Given the description of an element on the screen output the (x, y) to click on. 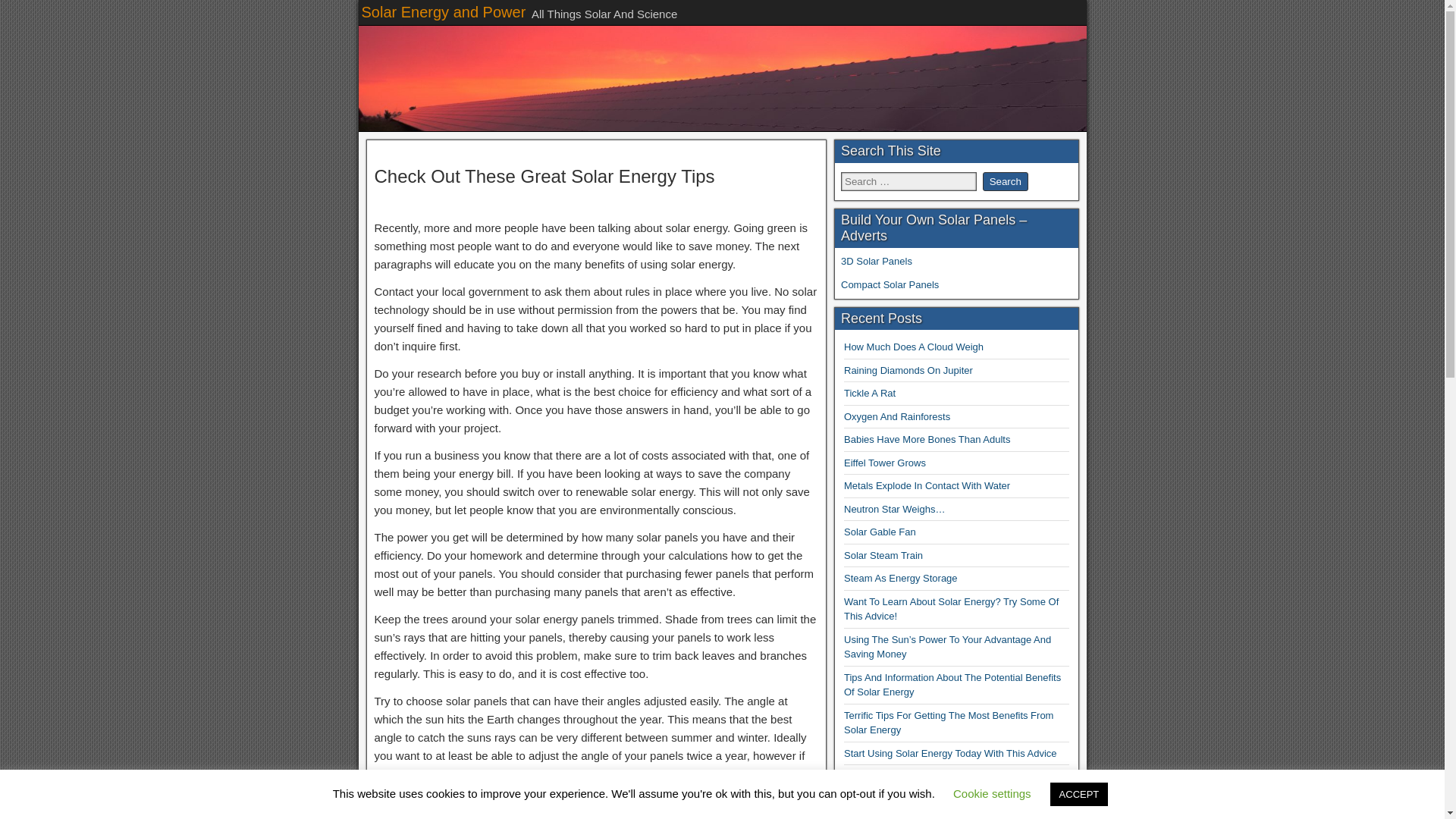
How Much Does A Cloud Weigh (914, 346)
Some Ways To Take Advantage Of Solar Energy. (950, 776)
Some Ideas To Get Into Solar Energy (925, 799)
Cookie settings (991, 793)
Start Using Solar Energy Today With This Advice (950, 753)
Raining Diamonds On Jupiter (908, 369)
Babies Have More Bones Than Adults (927, 439)
Compact Solar Panels (890, 284)
Solar Energy and Power (443, 12)
